Given the description of an element on the screen output the (x, y) to click on. 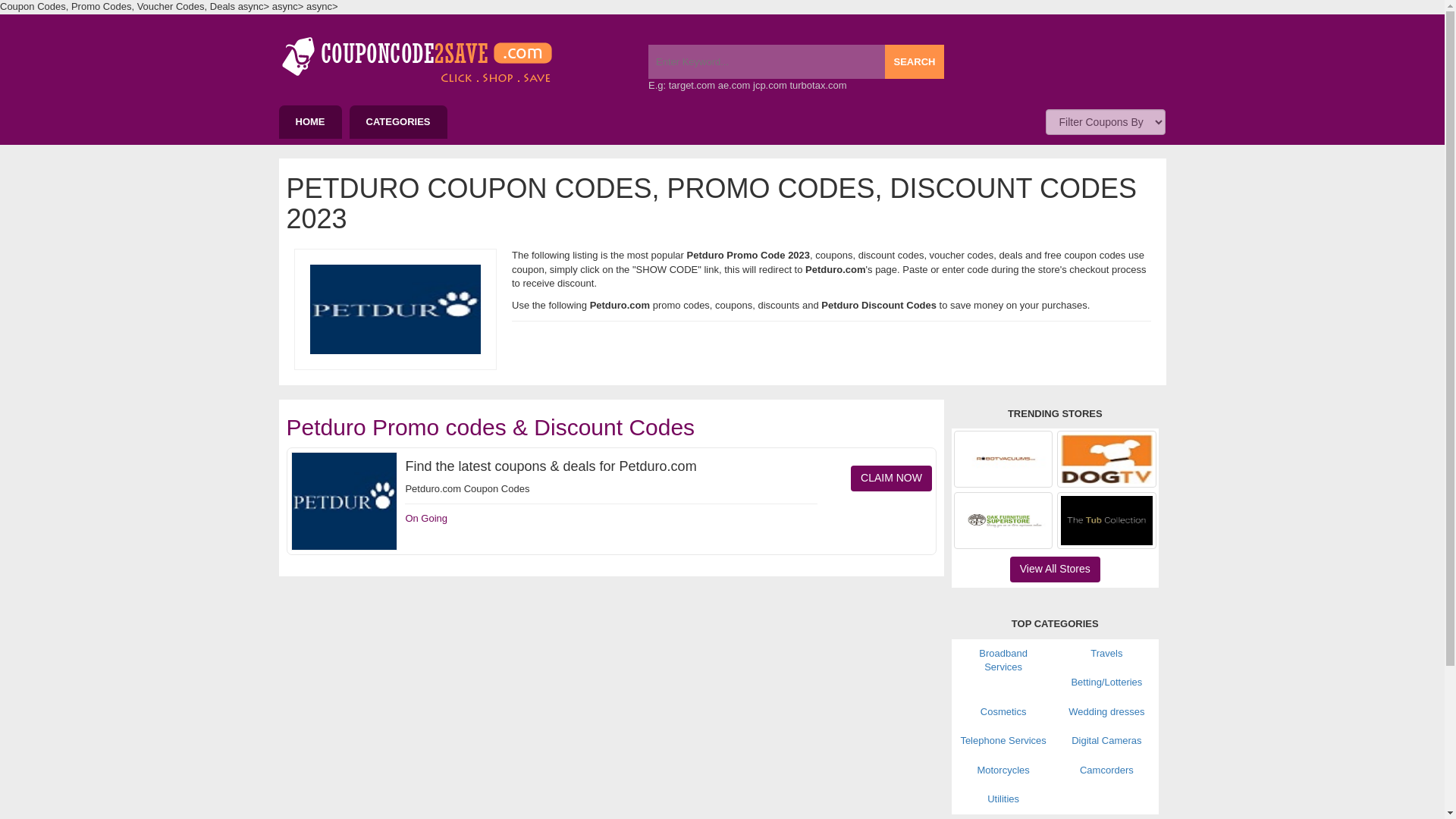
SEARCH (914, 61)
Telephone Services (1002, 740)
Broadband Services (1002, 660)
Utilities (1003, 798)
Travels (1106, 653)
Motorcycles (1002, 769)
Cosmetics (1002, 711)
Digital Cameras (1106, 740)
HOME (310, 122)
CLAIM NOW (890, 478)
